Given the description of an element on the screen output the (x, y) to click on. 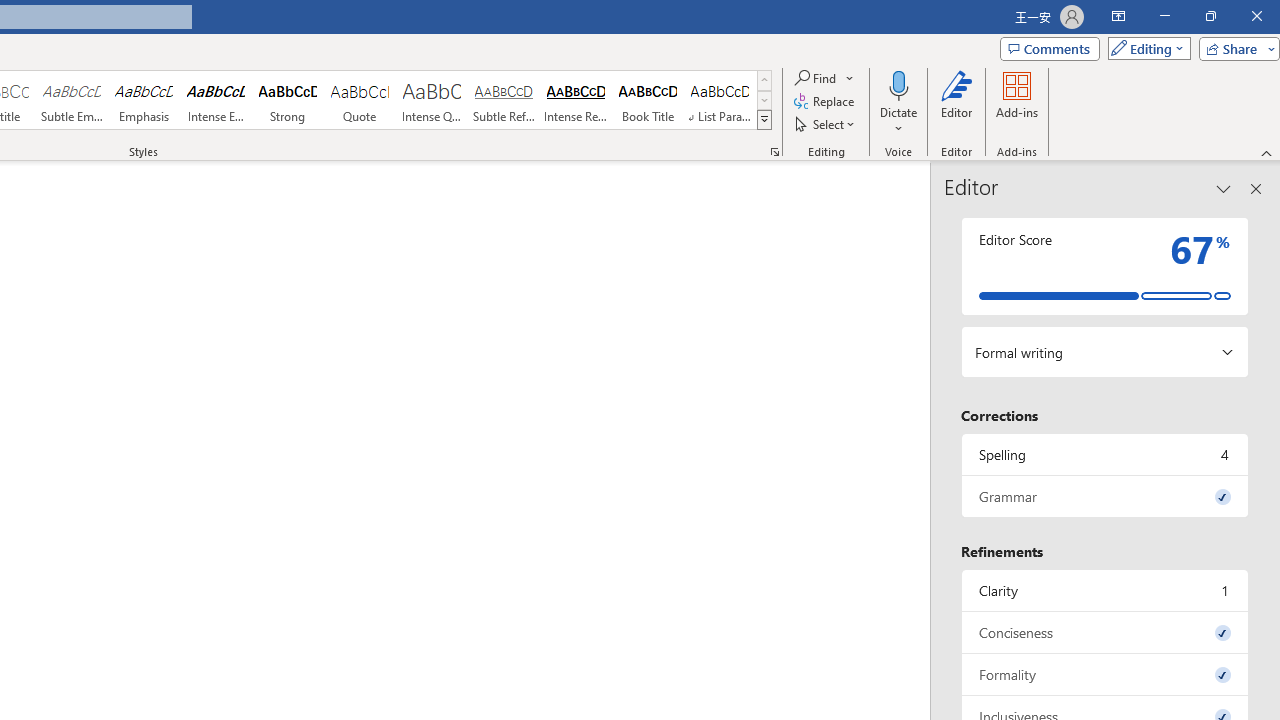
Clarity, 1 issue. Press space or enter to review items. (1105, 590)
Book Title (647, 100)
Subtle Reference (504, 100)
Spelling, 4 issues. Press space or enter to review items. (1105, 454)
Intense Reference (575, 100)
Intense Quote (431, 100)
Editor Score 67% (1105, 266)
